Given the description of an element on the screen output the (x, y) to click on. 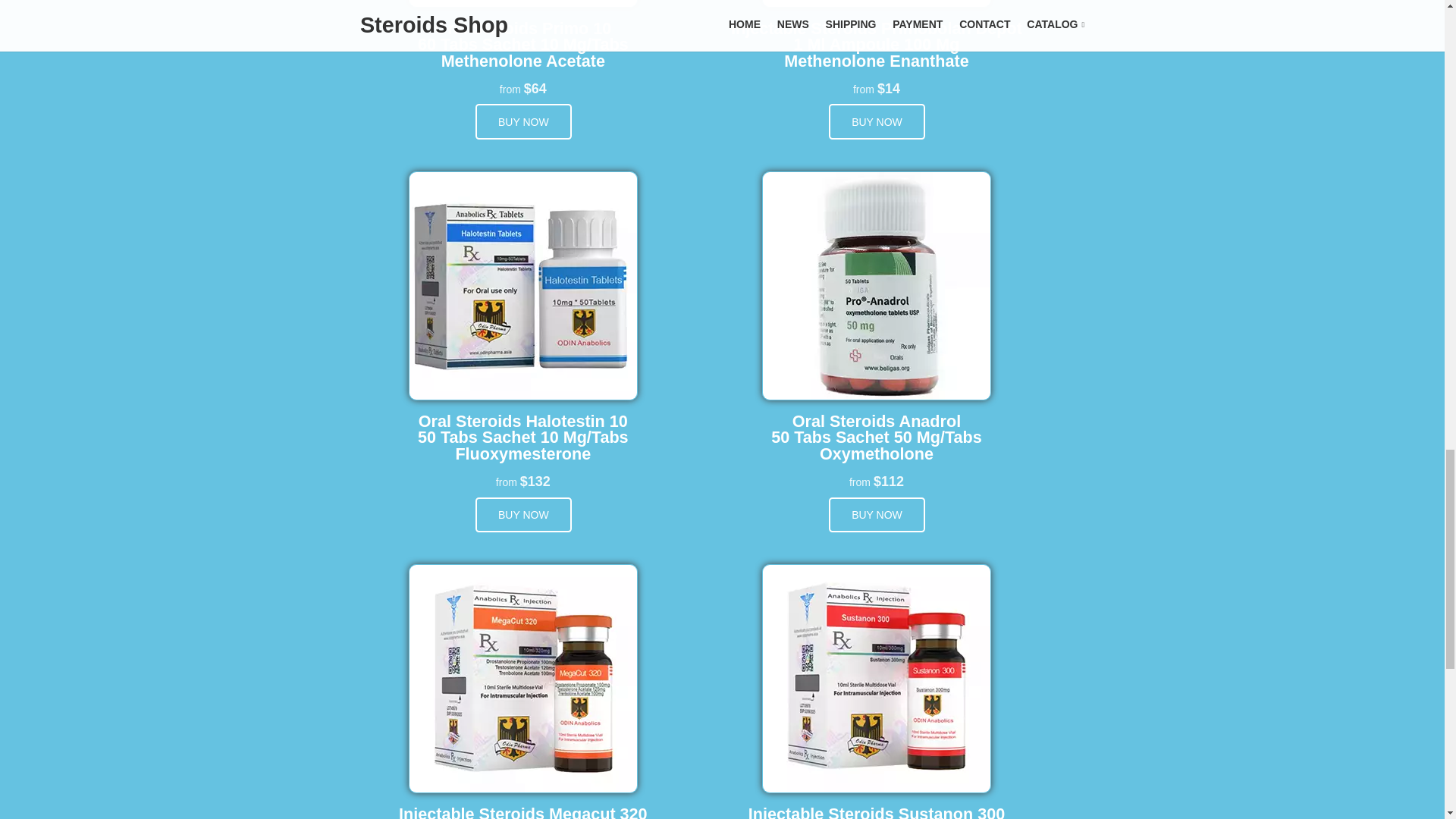
BUY NOW (876, 515)
BUY NOW (524, 121)
BUY NOW (524, 515)
BUY NOW (876, 121)
